Given the description of an element on the screen output the (x, y) to click on. 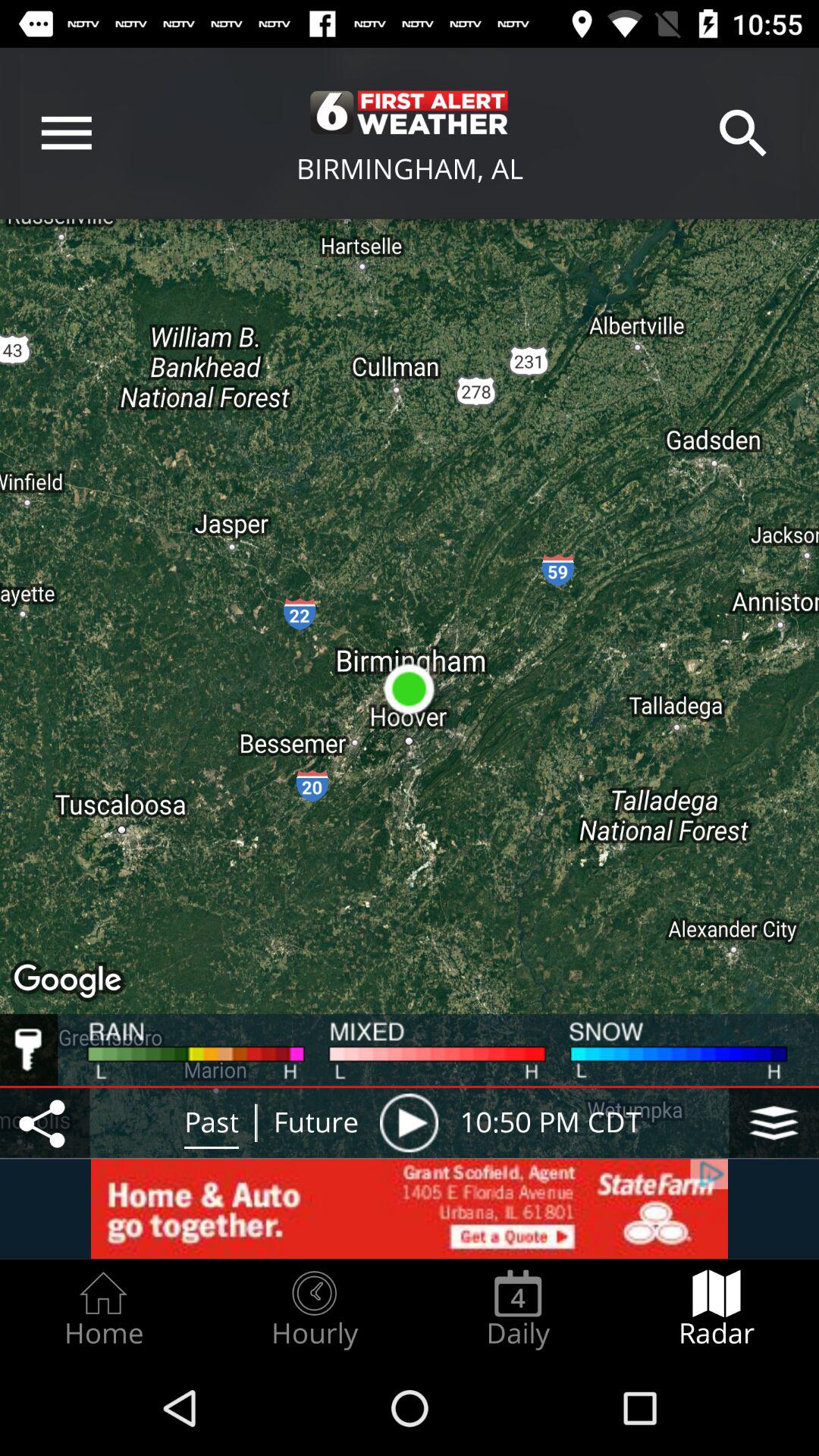
open the icon next to future icon (409, 1122)
